Given the description of an element on the screen output the (x, y) to click on. 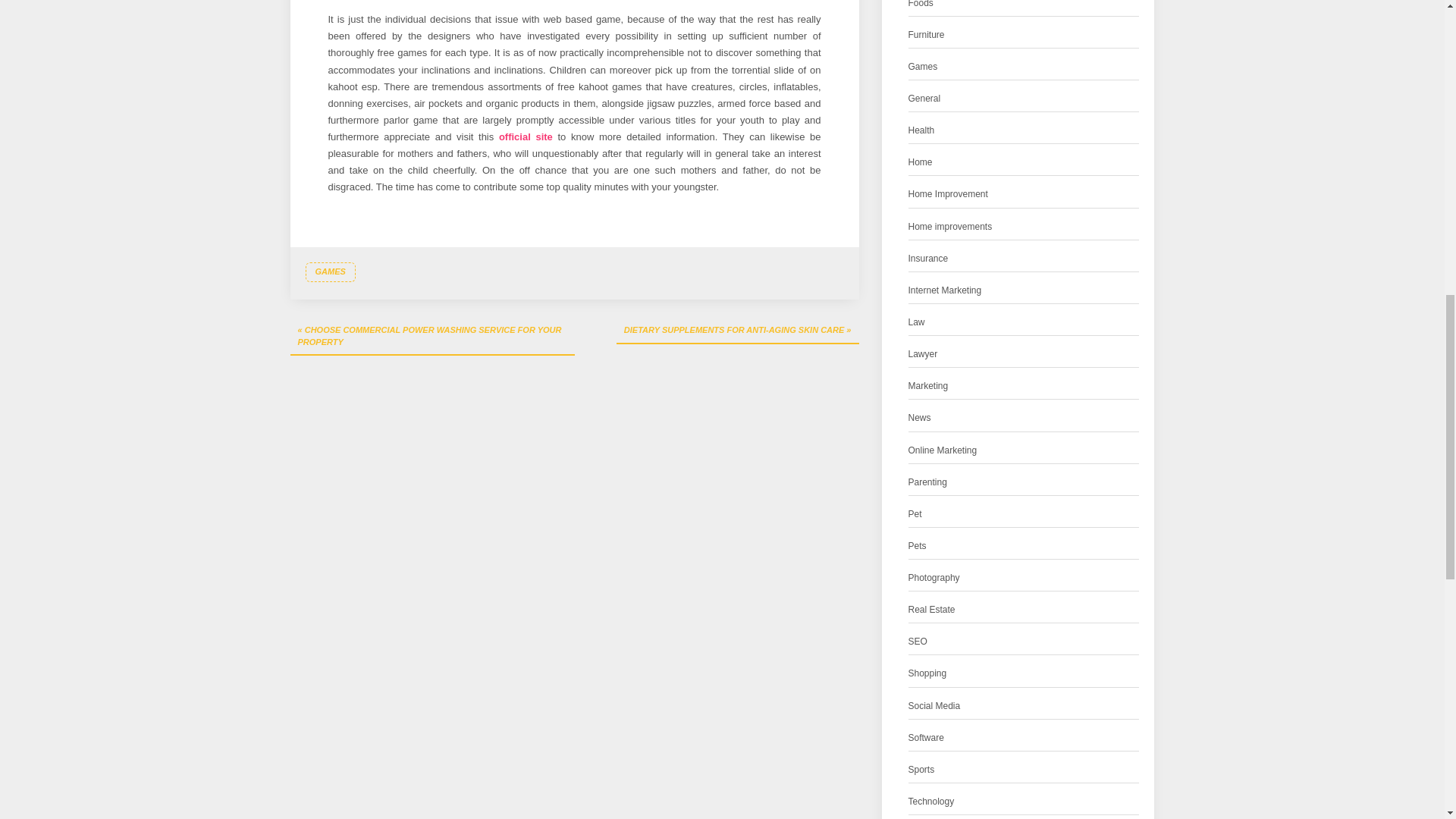
official site (526, 136)
General (924, 98)
Home Improvement (948, 194)
DIETARY SUPPLEMENTS FOR ANTI-AGING SKIN CARE (737, 330)
GAMES (329, 271)
Furniture (926, 35)
CHOOSE COMMERCIAL POWER WASHING SERVICE FOR YOUR PROPERTY (431, 336)
Health (921, 130)
Home (920, 162)
Foods (920, 5)
